Given the description of an element on the screen output the (x, y) to click on. 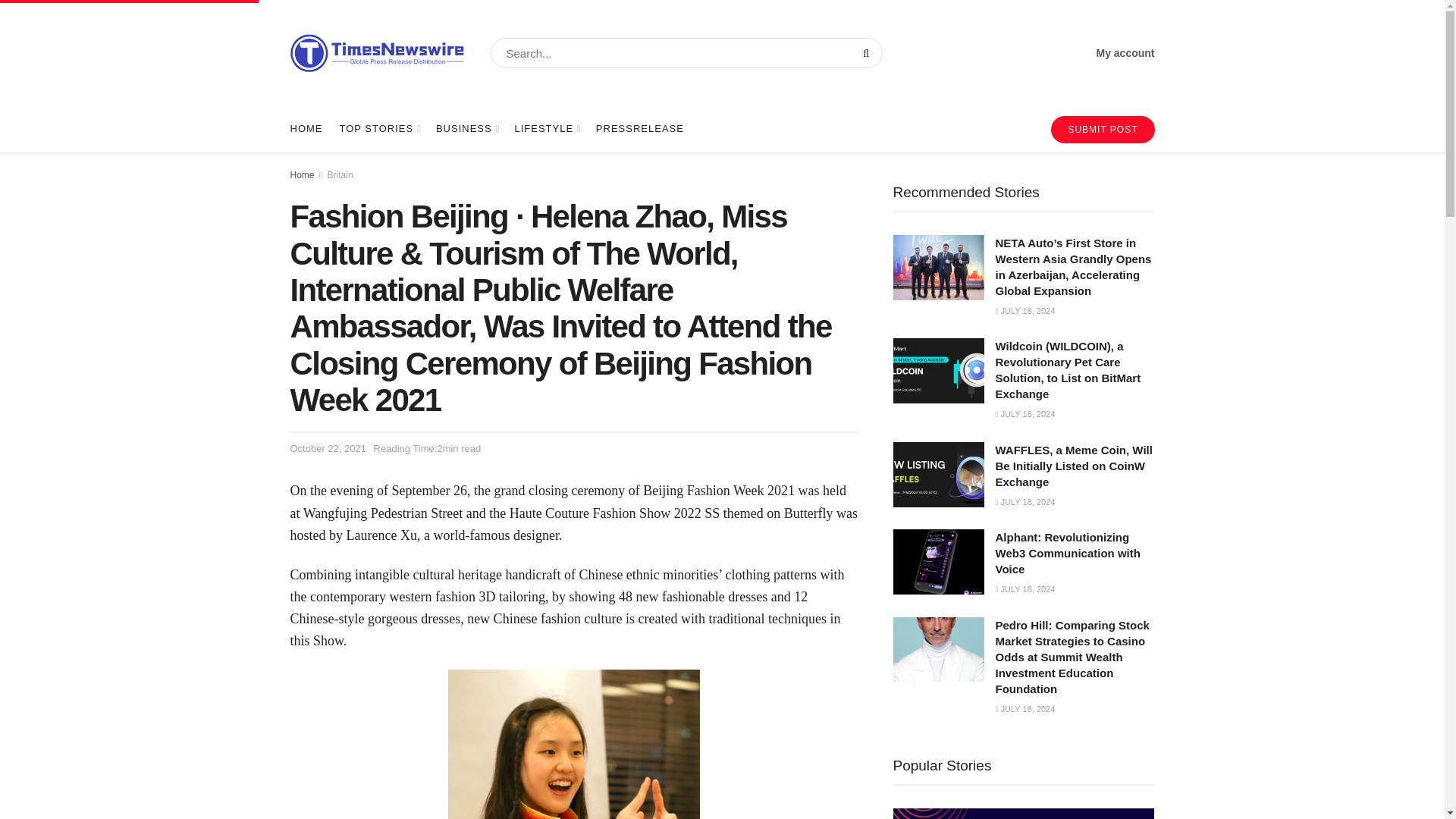
BUSINESS (466, 128)
My account (1125, 53)
PRESSRELEASE (639, 128)
LIFESTYLE (545, 128)
TOP STORIES (379, 128)
SUBMIT POST (1102, 129)
